Given the description of an element on the screen output the (x, y) to click on. 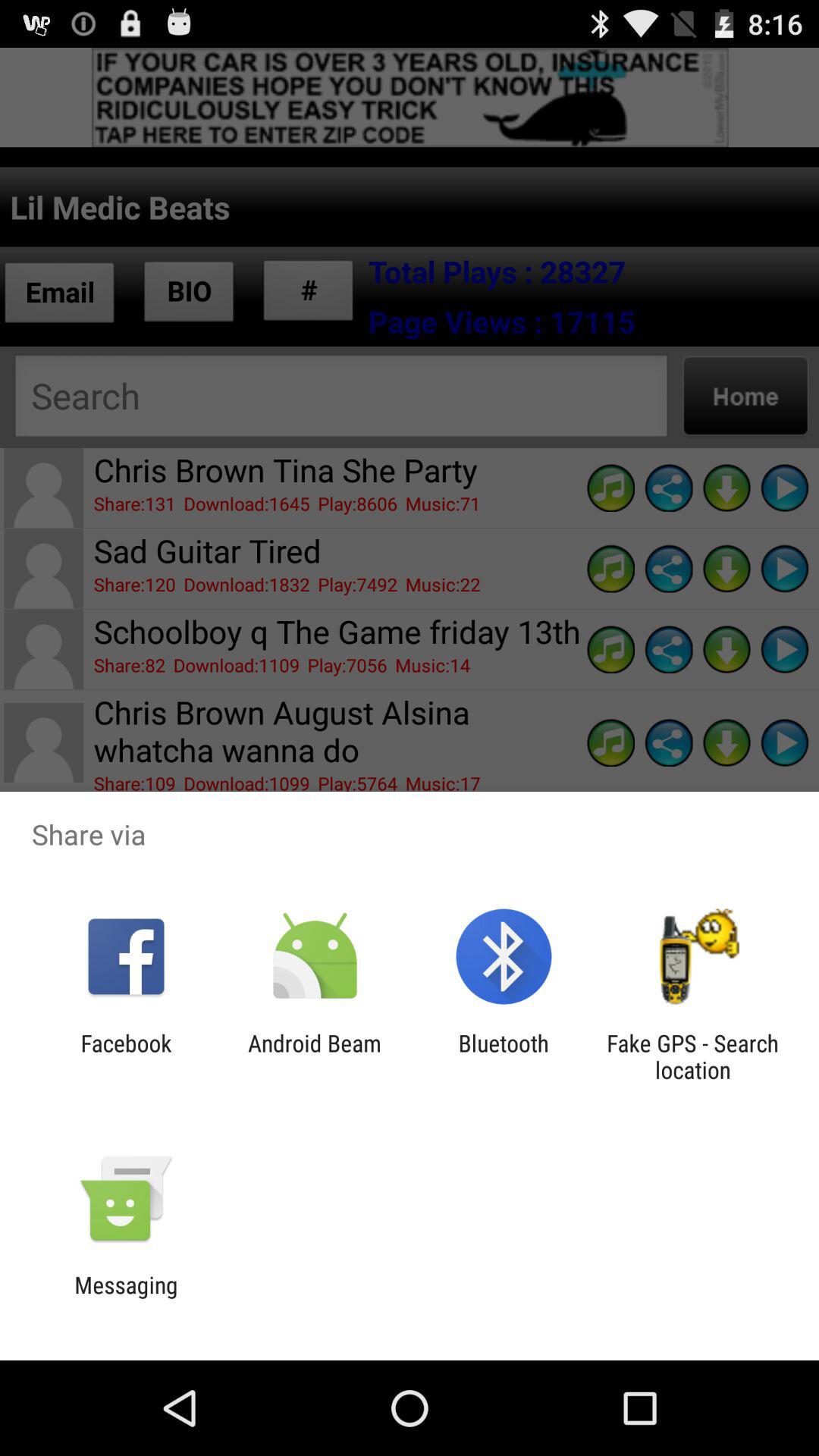
press the icon to the right of the facebook app (314, 1056)
